Given the description of an element on the screen output the (x, y) to click on. 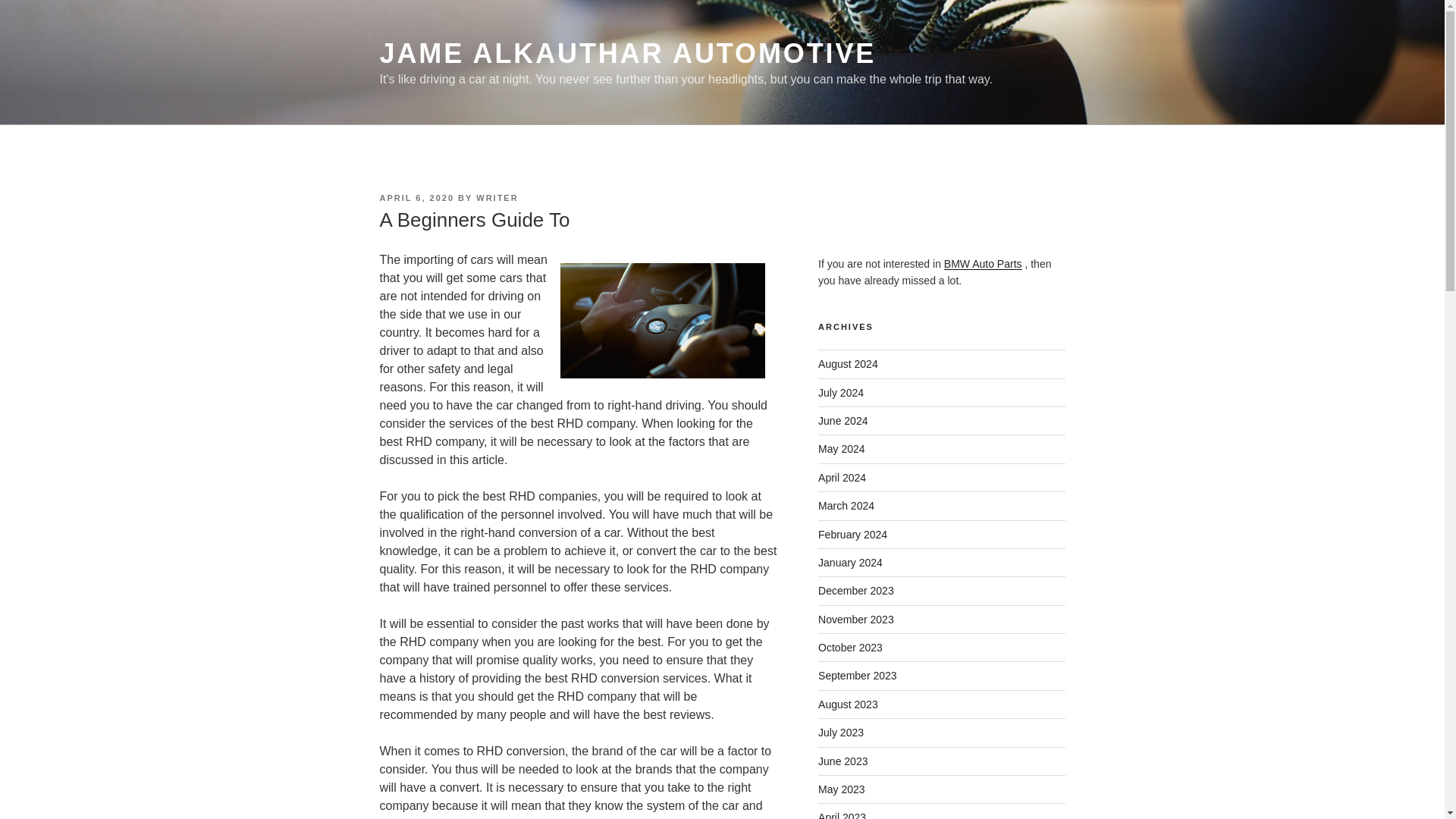
August 2024 (847, 363)
April 2023 (842, 815)
June 2023 (842, 761)
December 2023 (855, 590)
July 2023 (840, 732)
May 2023 (841, 788)
BMW Auto Parts (982, 263)
November 2023 (855, 619)
October 2023 (850, 647)
January 2024 (850, 562)
July 2024 (840, 392)
August 2023 (847, 704)
APRIL 6, 2020 (416, 197)
WRITER (497, 197)
March 2024 (846, 505)
